Given the description of an element on the screen output the (x, y) to click on. 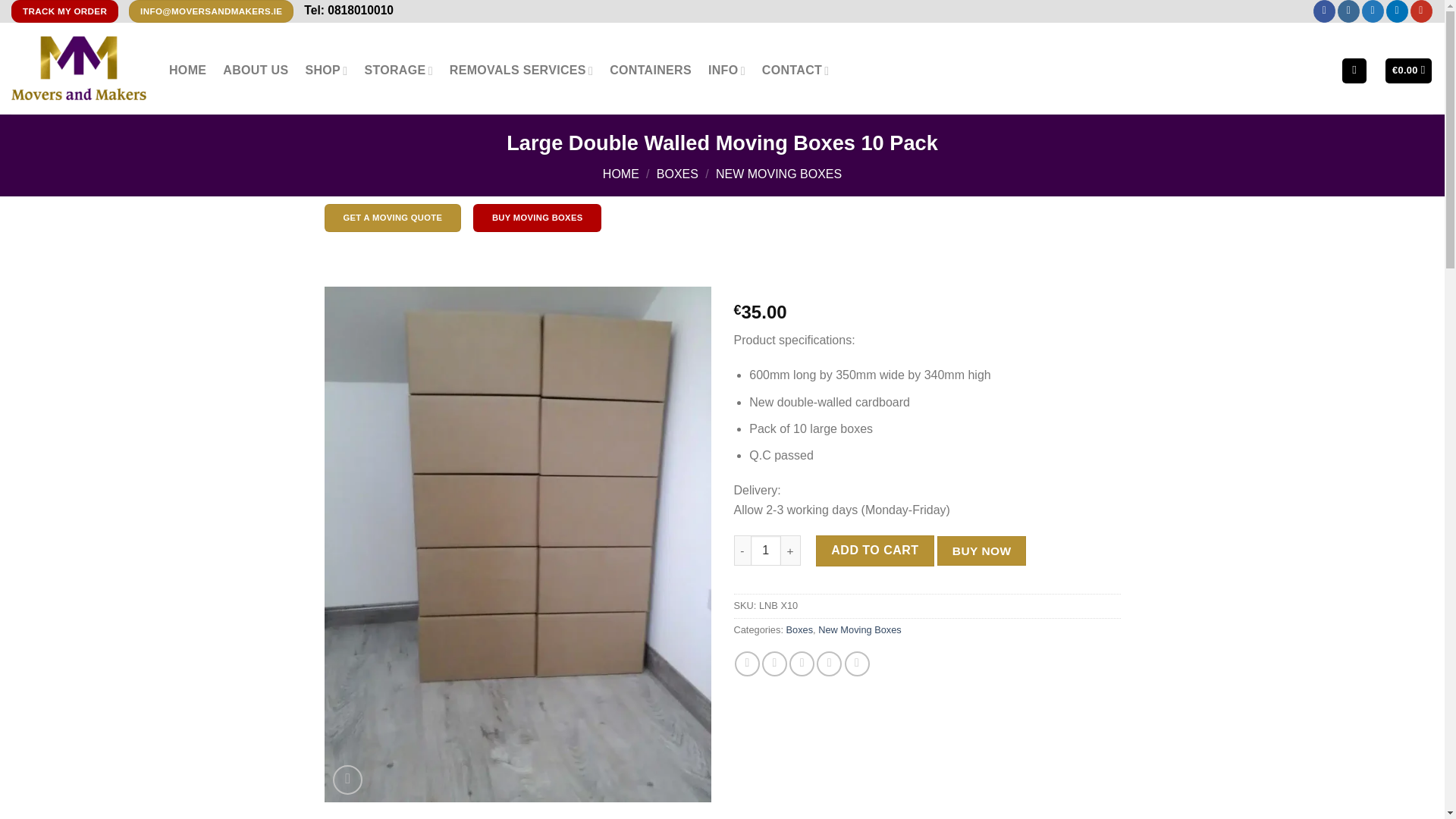
Zoom (347, 779)
HOME (187, 70)
Cart (1408, 70)
SHOP (325, 70)
Follow on Twitter (1372, 11)
Follow on LinkedIn (1396, 11)
Follow on Instagram (1348, 11)
1 (765, 550)
ABOUT US (255, 70)
TRACK MY ORDER (64, 11)
